Given the description of an element on the screen output the (x, y) to click on. 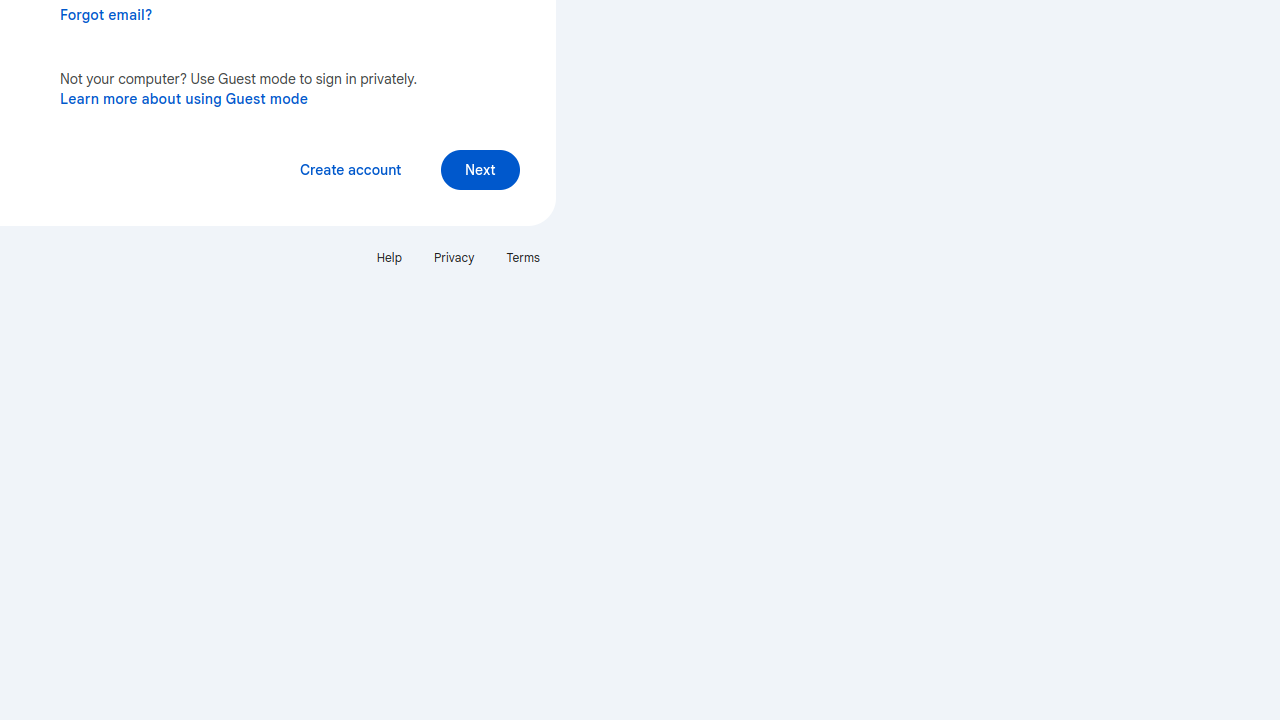
Next Element type: push-button (480, 170)
Forgot email? Element type: push-button (106, 15)
Privacy Element type: link (454, 258)
Create account Element type: push-button (350, 170)
Terms Element type: link (523, 258)
